Given the description of an element on the screen output the (x, y) to click on. 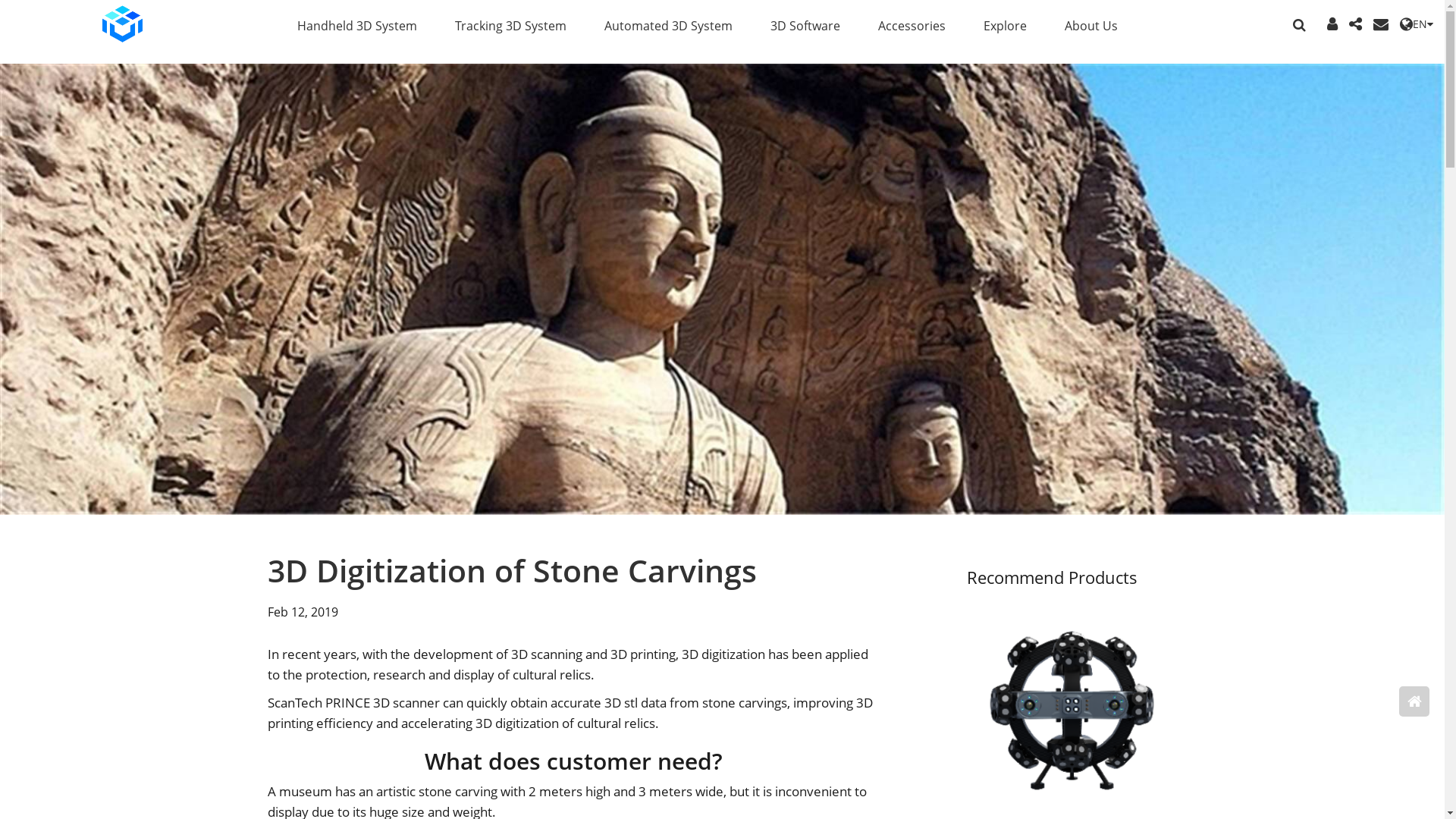
3D Software Element type: text (805, 24)
Reseller Center Element type: hover (1332, 23)
Automated 3D System Element type: text (668, 24)
Explore Element type: text (1004, 24)
About Us Element type: text (1090, 24)
EN Element type: text (1416, 23)
Accessories Element type: text (911, 24)
Tracking 3D System Element type: text (510, 24)
Handheld 3D System Element type: text (357, 24)
